Given the description of an element on the screen output the (x, y) to click on. 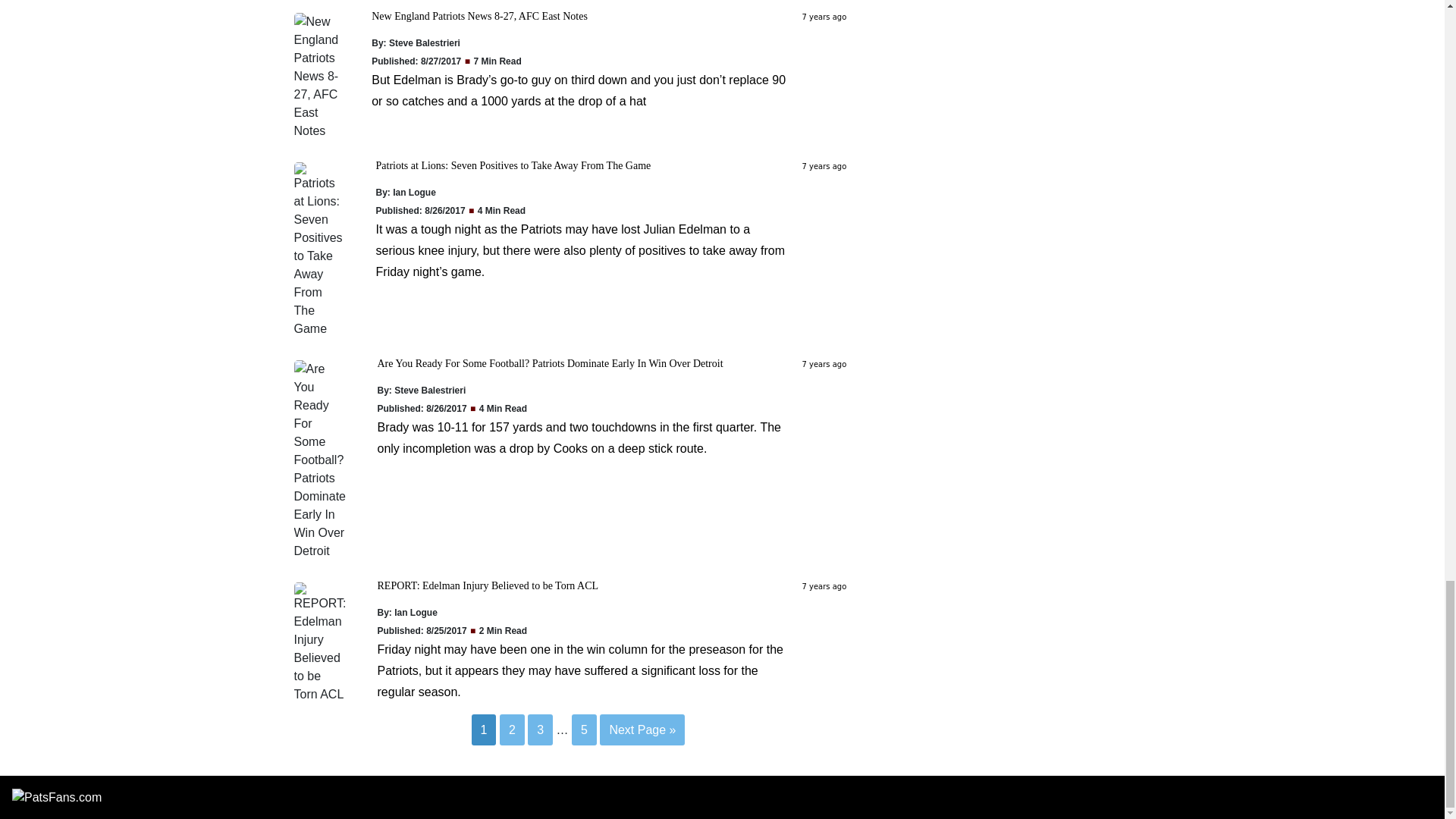
New England Patriots News 8-27, AFC East Notes (479, 16)
REPORT: Edelman Injury Believed to be Torn ACL (487, 585)
